Given the description of an element on the screen output the (x, y) to click on. 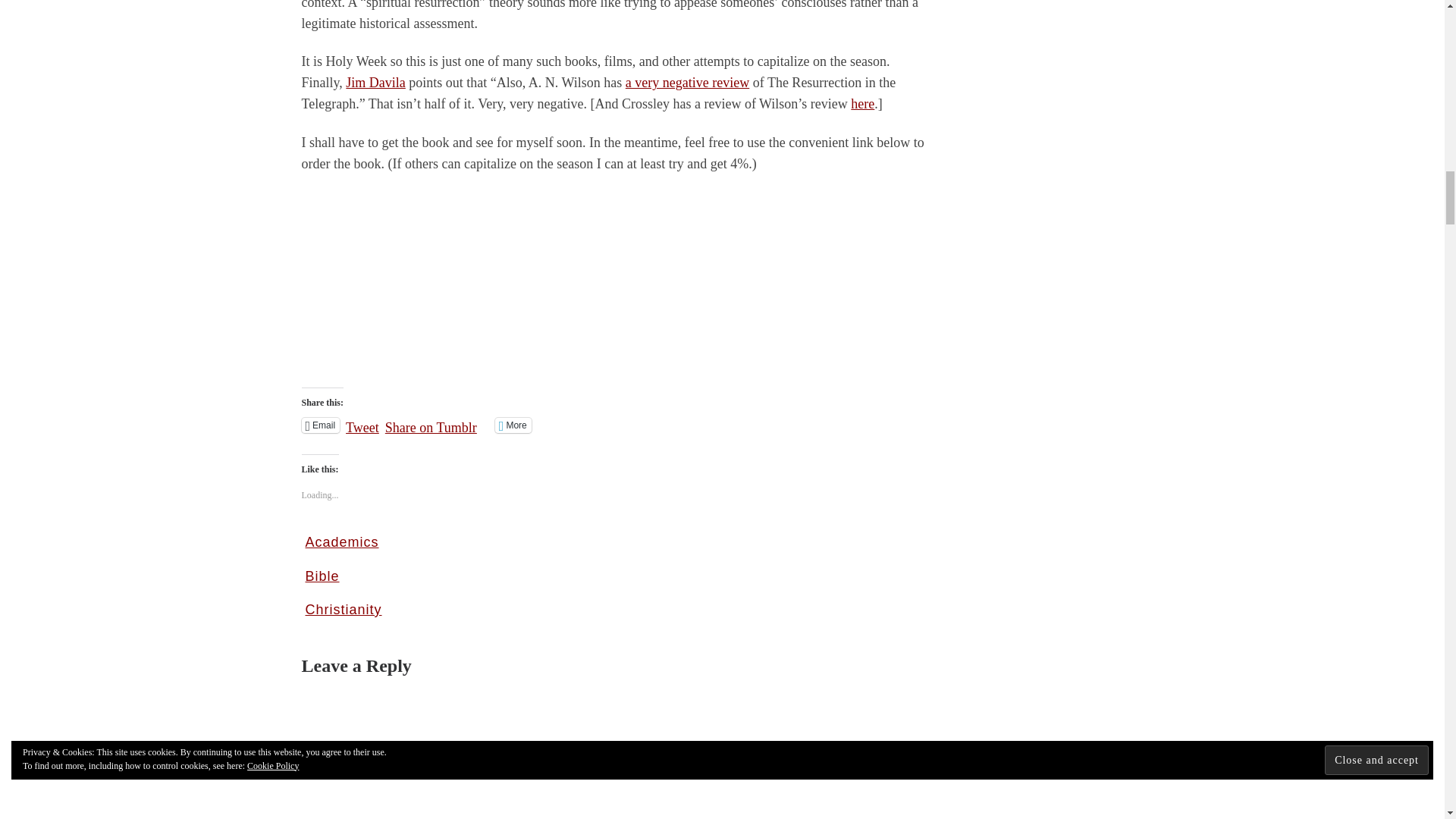
Click to email a link to a friend (320, 425)
Share on Tumblr (431, 424)
Paleojudiaca (376, 82)
